Given the description of an element on the screen output the (x, y) to click on. 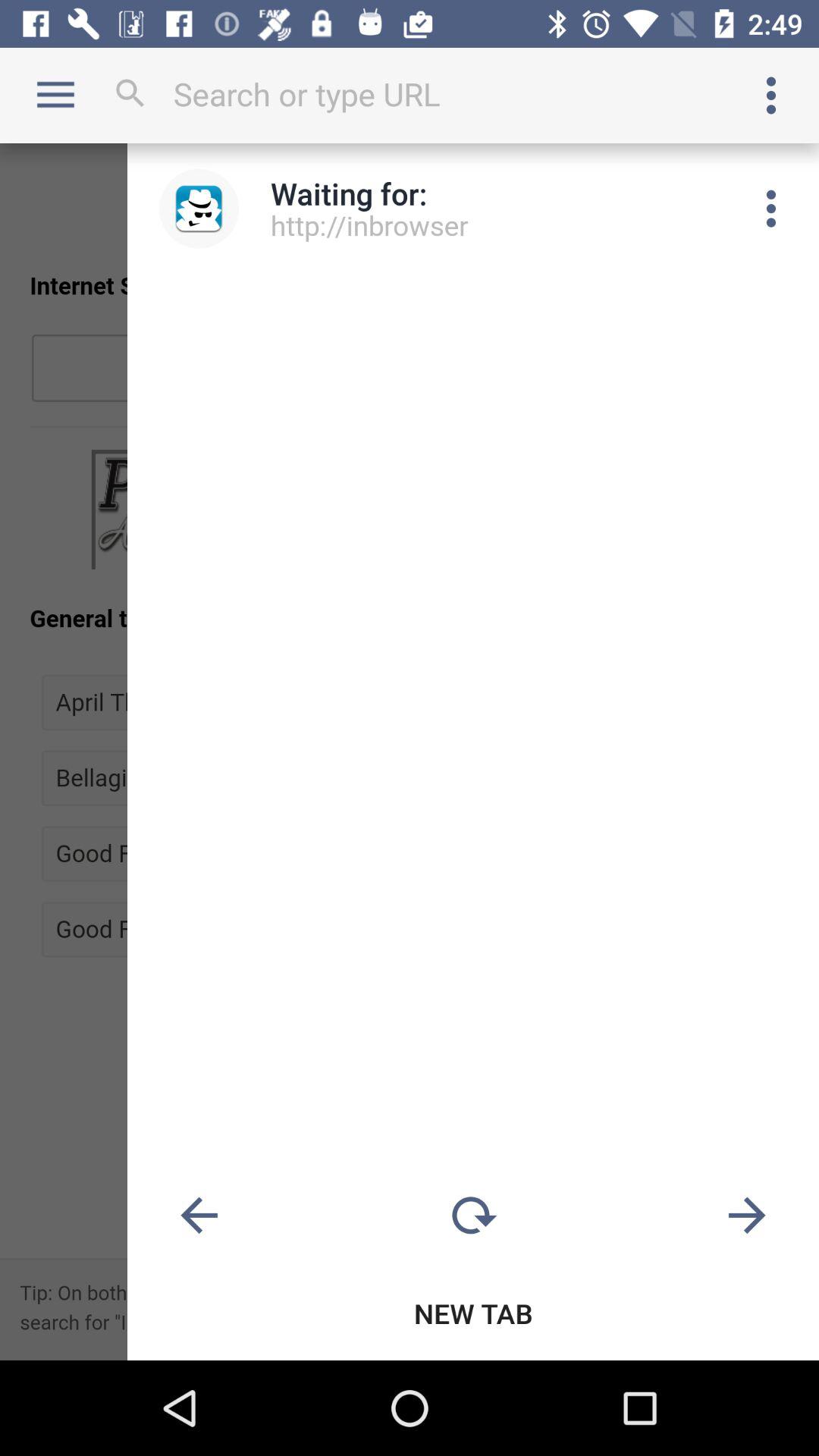
jump until the waiting for: icon (348, 193)
